Given the description of an element on the screen output the (x, y) to click on. 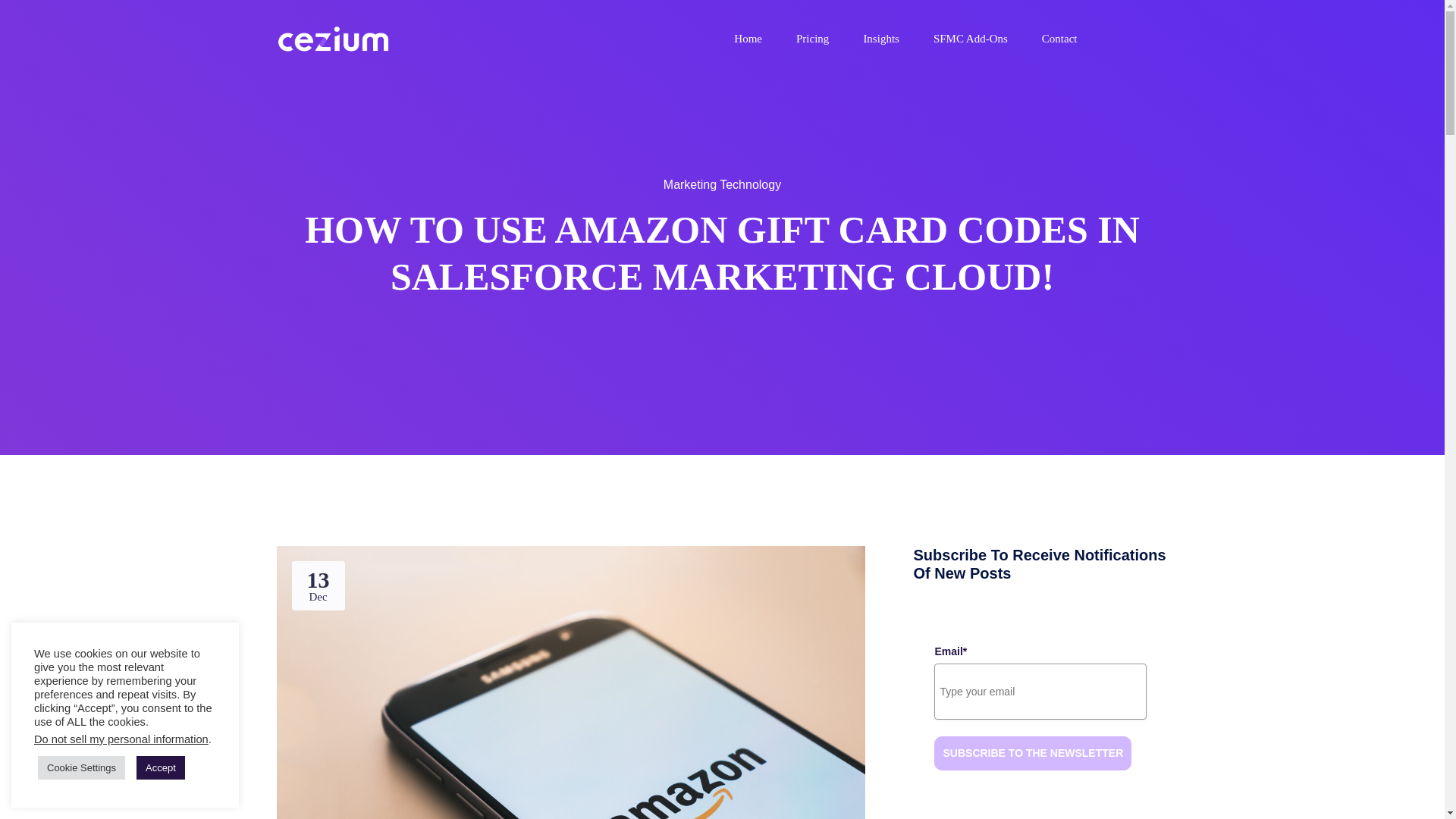
Pricing (812, 38)
Marketing Technology (721, 184)
SUBSCRIBE TO THE NEWSLETTER (1032, 752)
SFMC Add-Ons (970, 38)
Insights (881, 38)
Contact (1059, 38)
Home (747, 38)
